Given the description of an element on the screen output the (x, y) to click on. 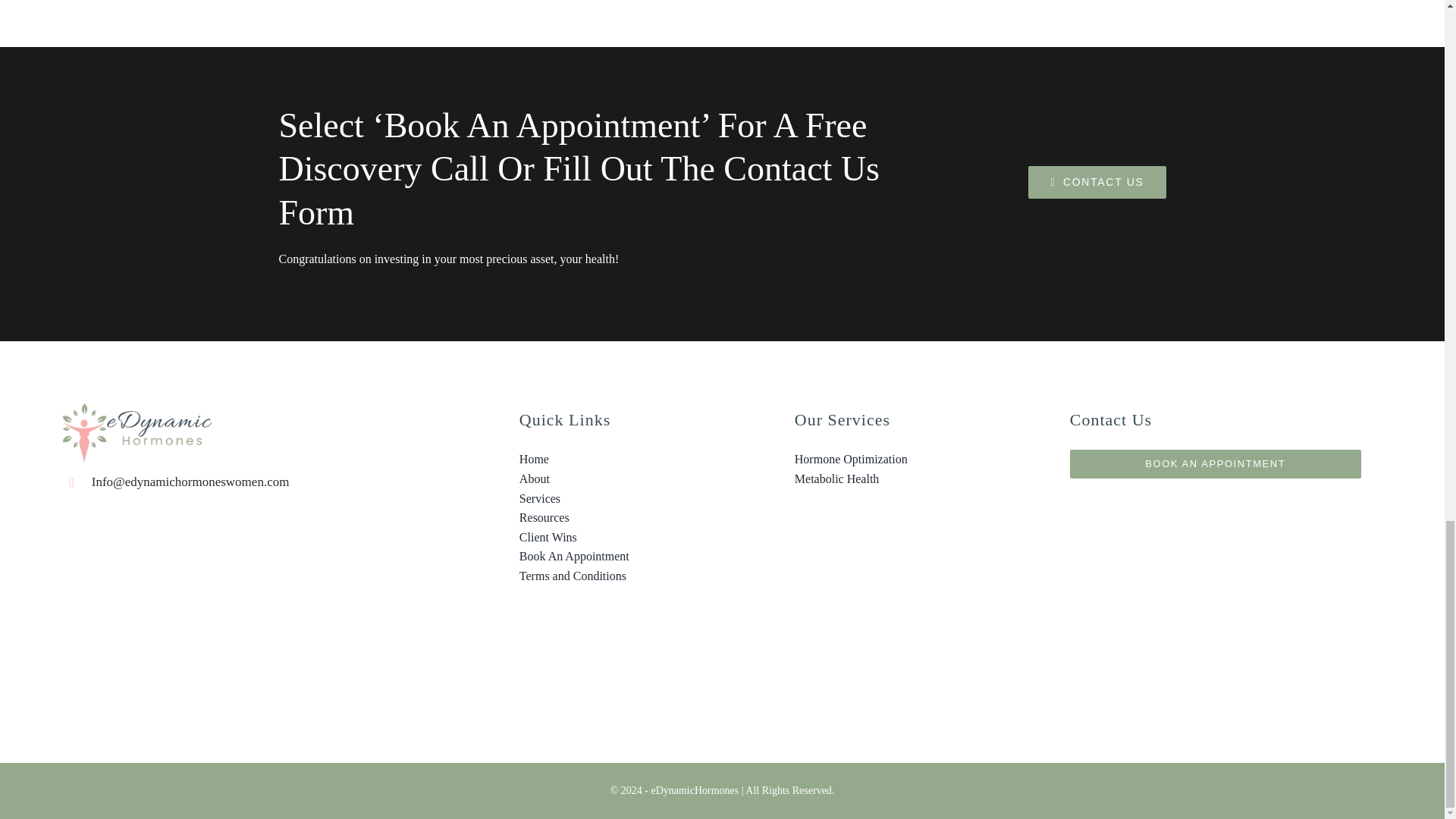
Terms and Conditions (630, 576)
Client Wins (630, 537)
Resources (630, 517)
Hormone Optimization (905, 459)
Book An Appointment (630, 556)
CONTACT US (1096, 182)
Contact Us (1096, 182)
Home (630, 459)
Services (630, 498)
logoedynimic (136, 433)
About (630, 478)
